Given the description of an element on the screen output the (x, y) to click on. 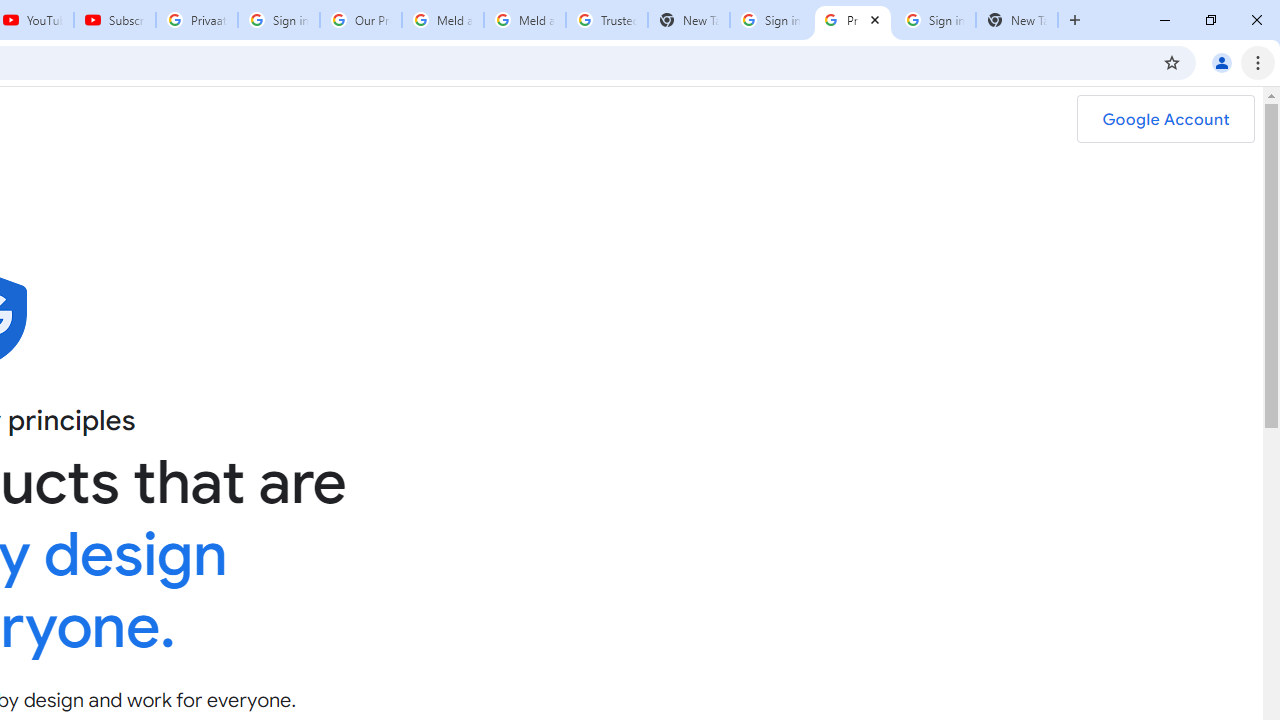
Sign in - Google Accounts (278, 20)
Sign in - Google Accounts (770, 20)
New Tab (1016, 20)
Subscriptions - YouTube (115, 20)
Privacy Principles - Google Safety Center (852, 20)
Trusted Information and Content - Google Safety Center (606, 20)
New Tab (688, 20)
